Given the description of an element on the screen output the (x, y) to click on. 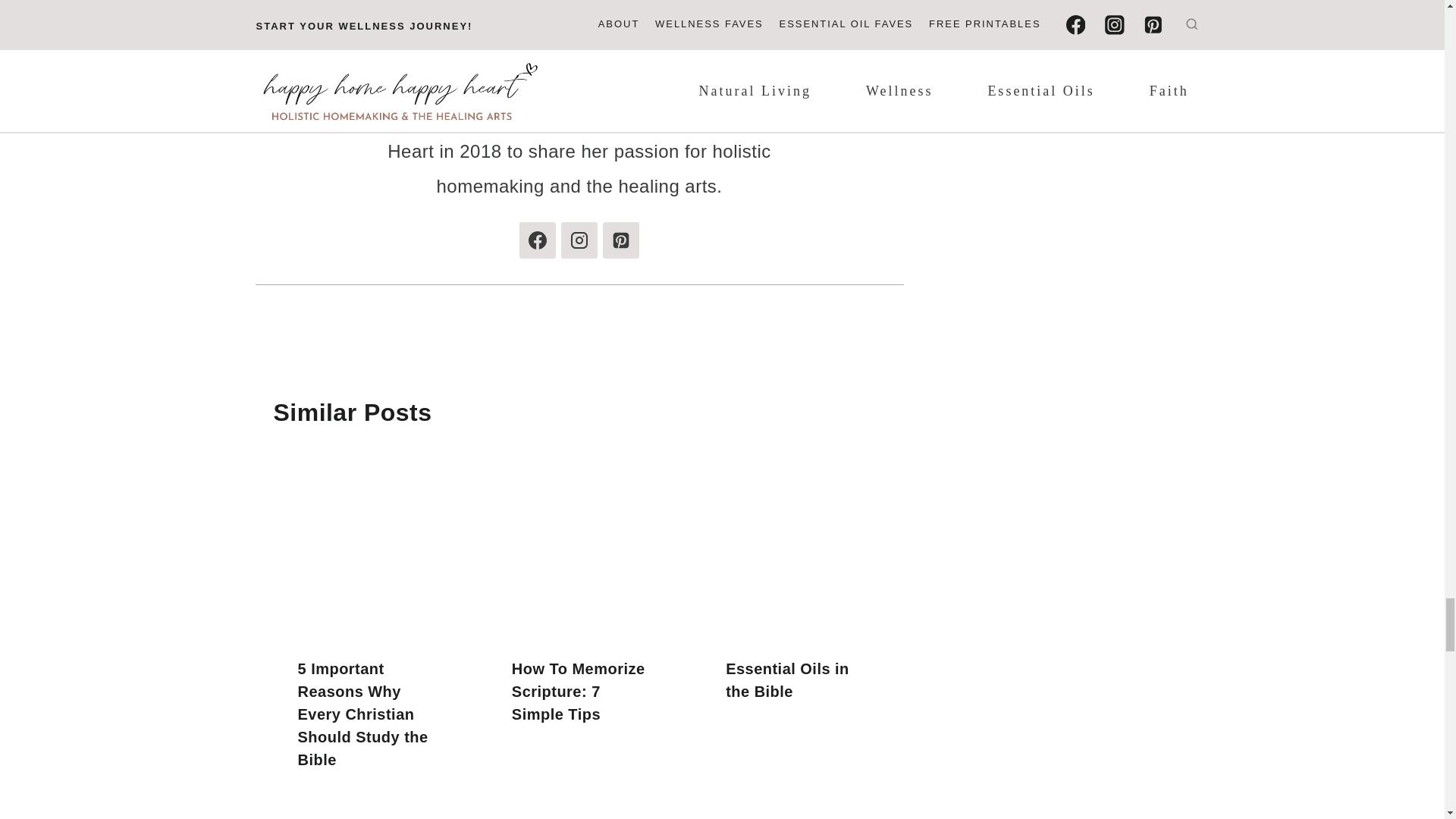
Follow Candice on Instagram (578, 239)
Follow Candice on Facebook (537, 239)
Follow Candice on Pinterest (620, 239)
